Given the description of an element on the screen output the (x, y) to click on. 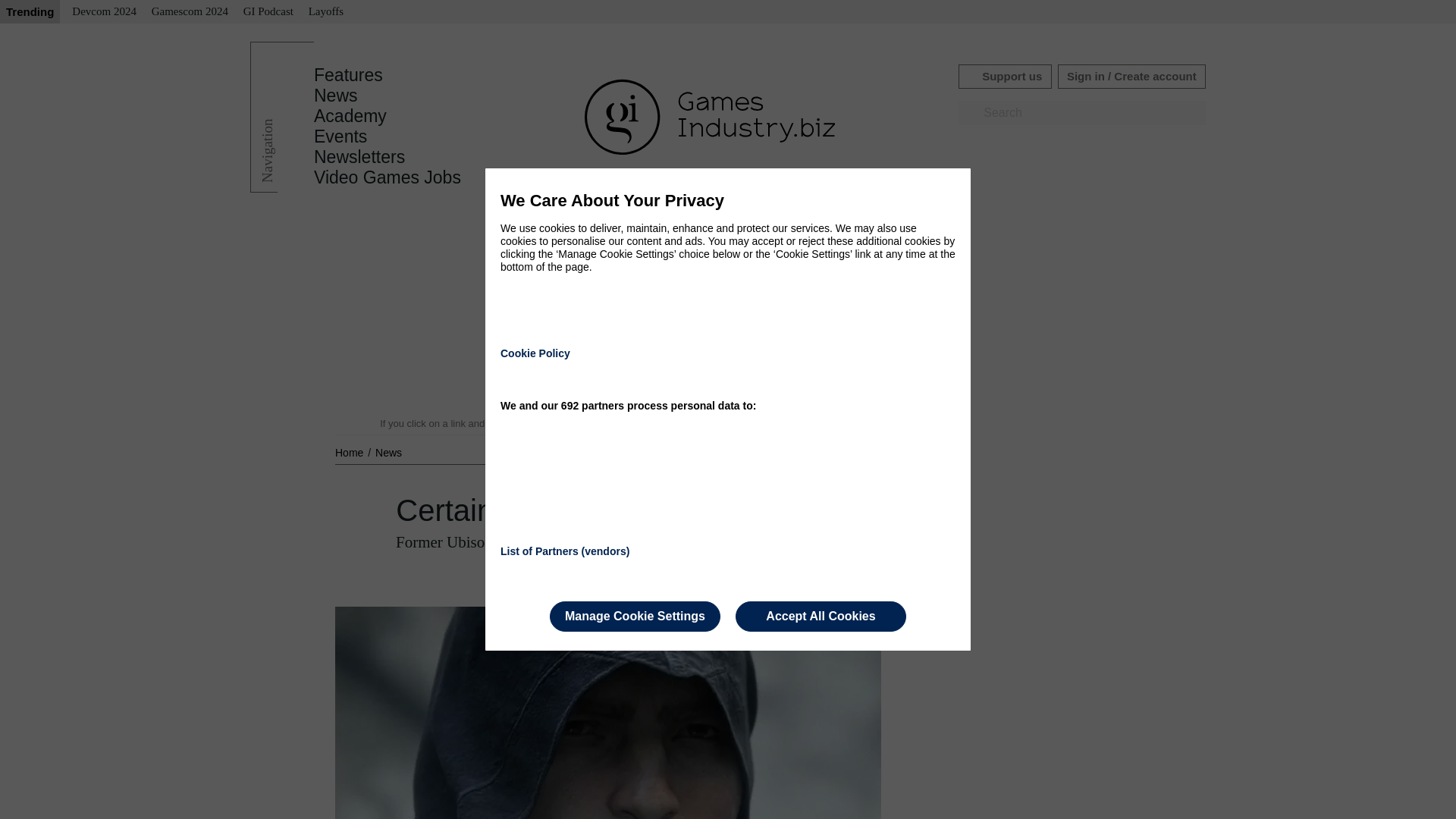
News (388, 452)
Features (348, 75)
News (336, 95)
Read our editorial policy (781, 423)
Features (348, 75)
Newsletters (359, 157)
Home (350, 452)
Video Games Jobs (387, 177)
Events (340, 136)
News (388, 452)
